Given the description of an element on the screen output the (x, y) to click on. 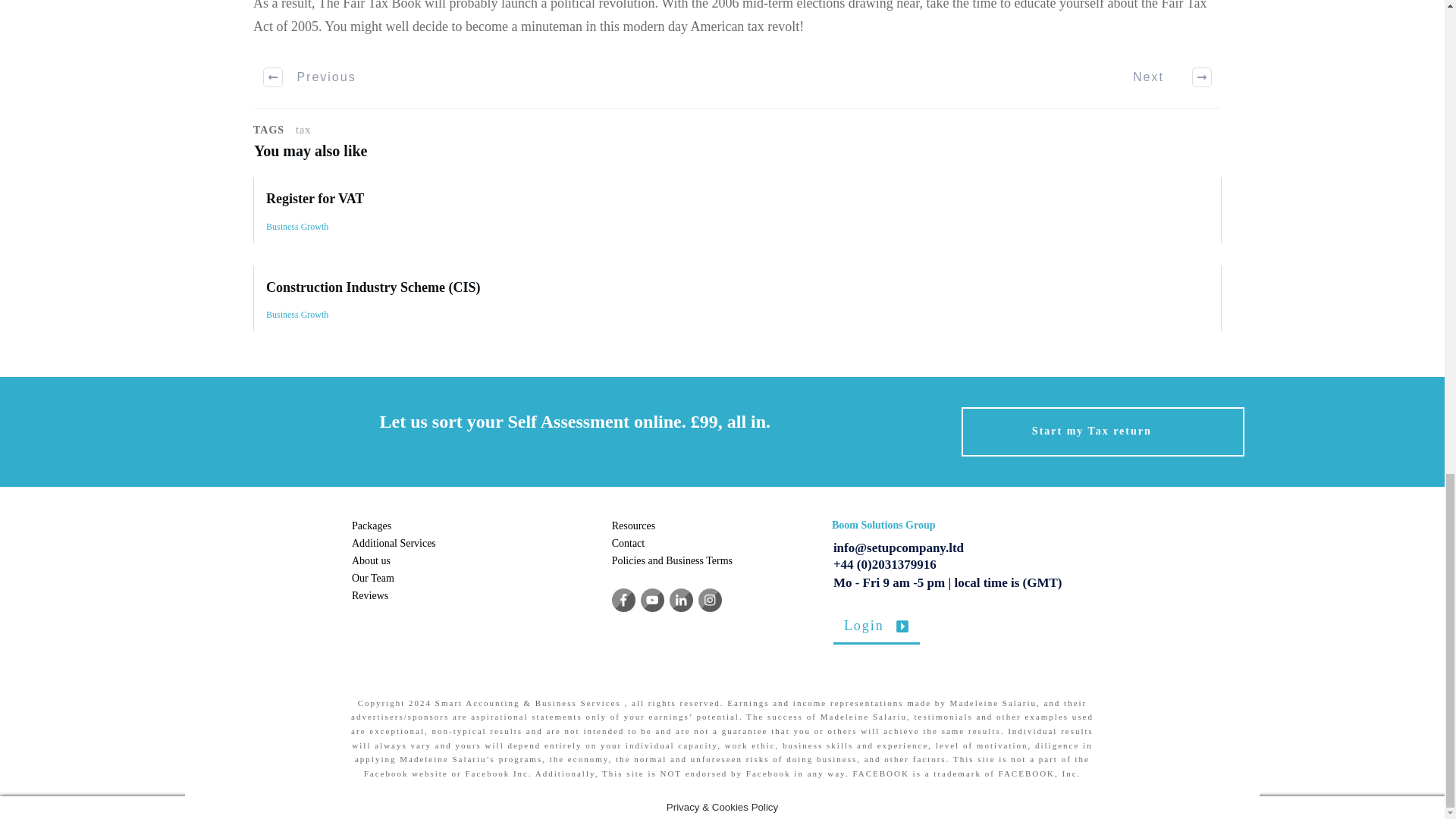
Business Growth (297, 314)
Business Growth (297, 226)
Business Growth (297, 314)
Contact (628, 542)
Policies and Business Terms  (673, 560)
Our Team (373, 577)
Previous (310, 77)
Register for VAT (737, 209)
Reviews (370, 595)
Register for VAT (315, 198)
